Given the description of an element on the screen output the (x, y) to click on. 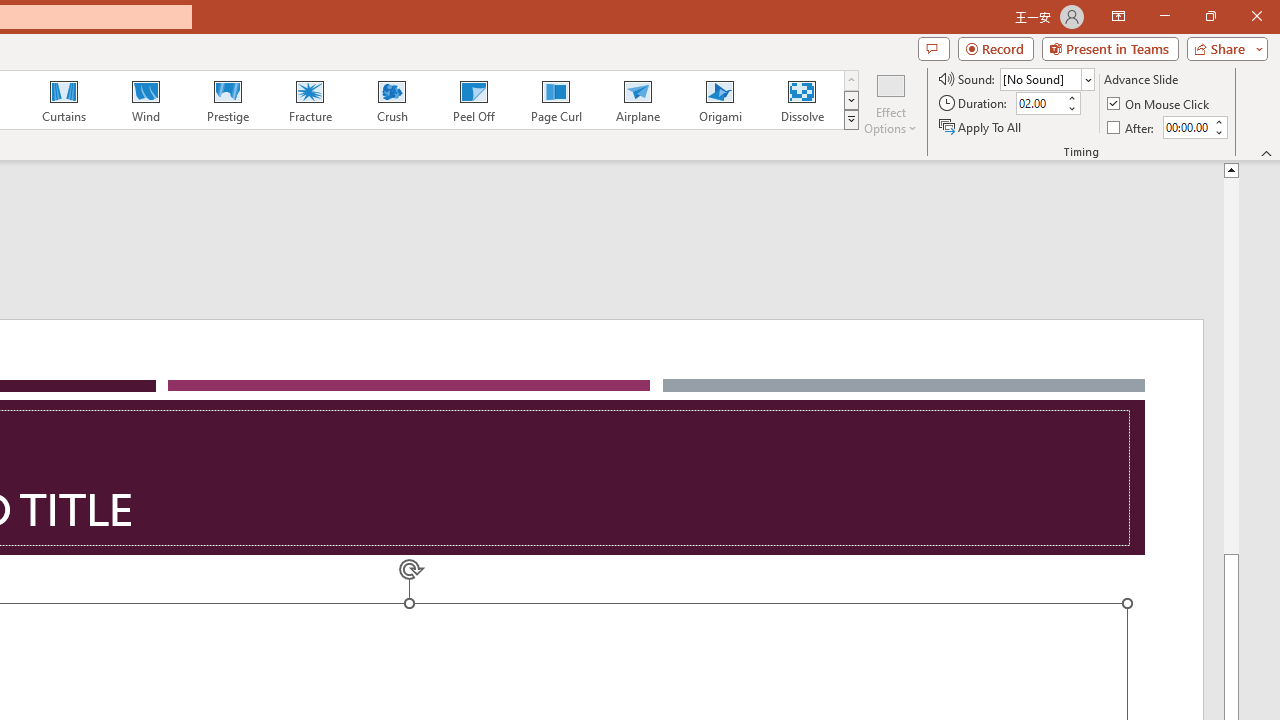
Crush (391, 100)
Sound (1046, 78)
Prestige (227, 100)
Peel Off (473, 100)
Airplane (637, 100)
Page Curl (555, 100)
